Given the description of an element on the screen output the (x, y) to click on. 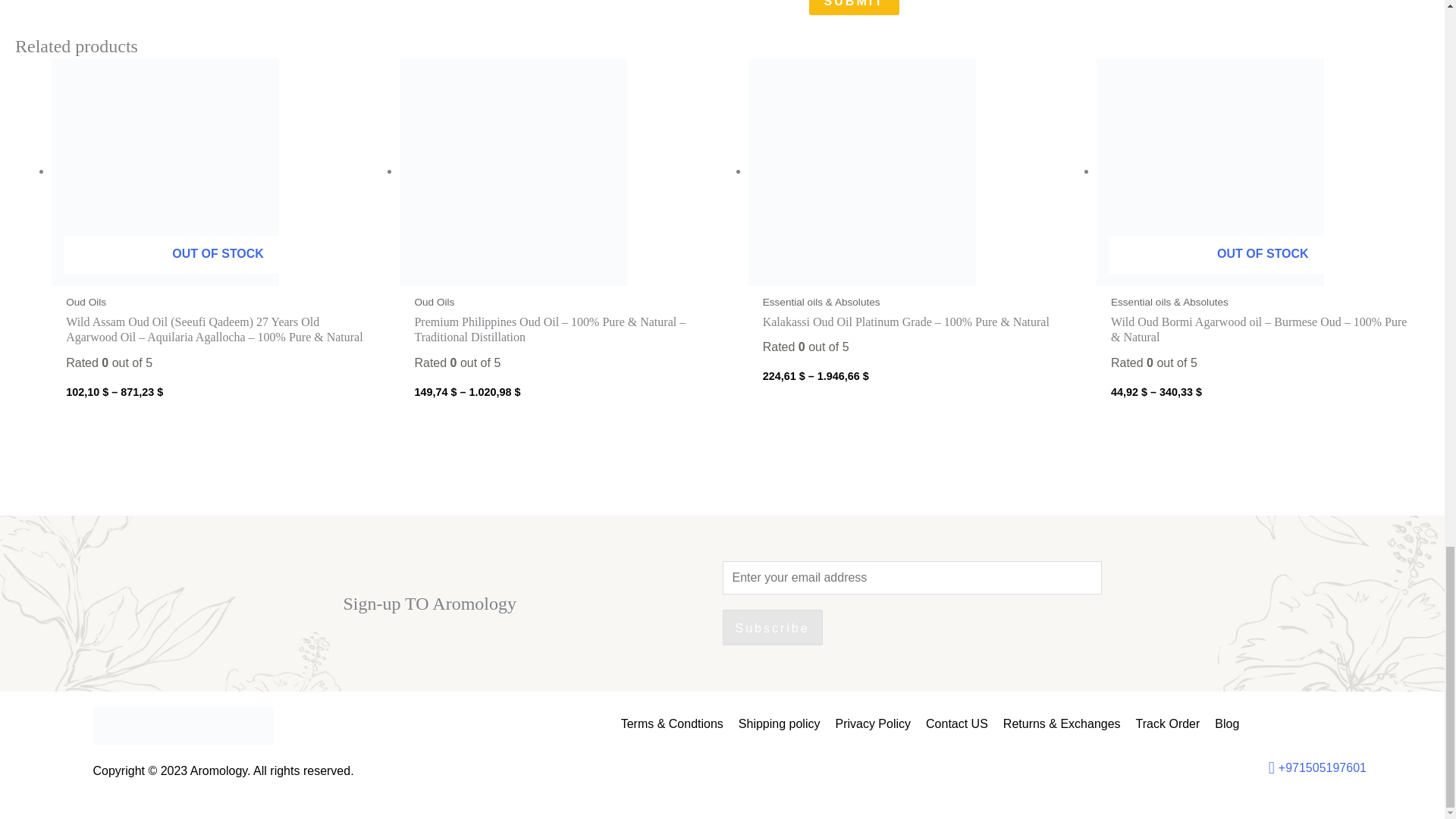
pngwing.com (183, 725)
Submit (854, 7)
